Given the description of an element on the screen output the (x, y) to click on. 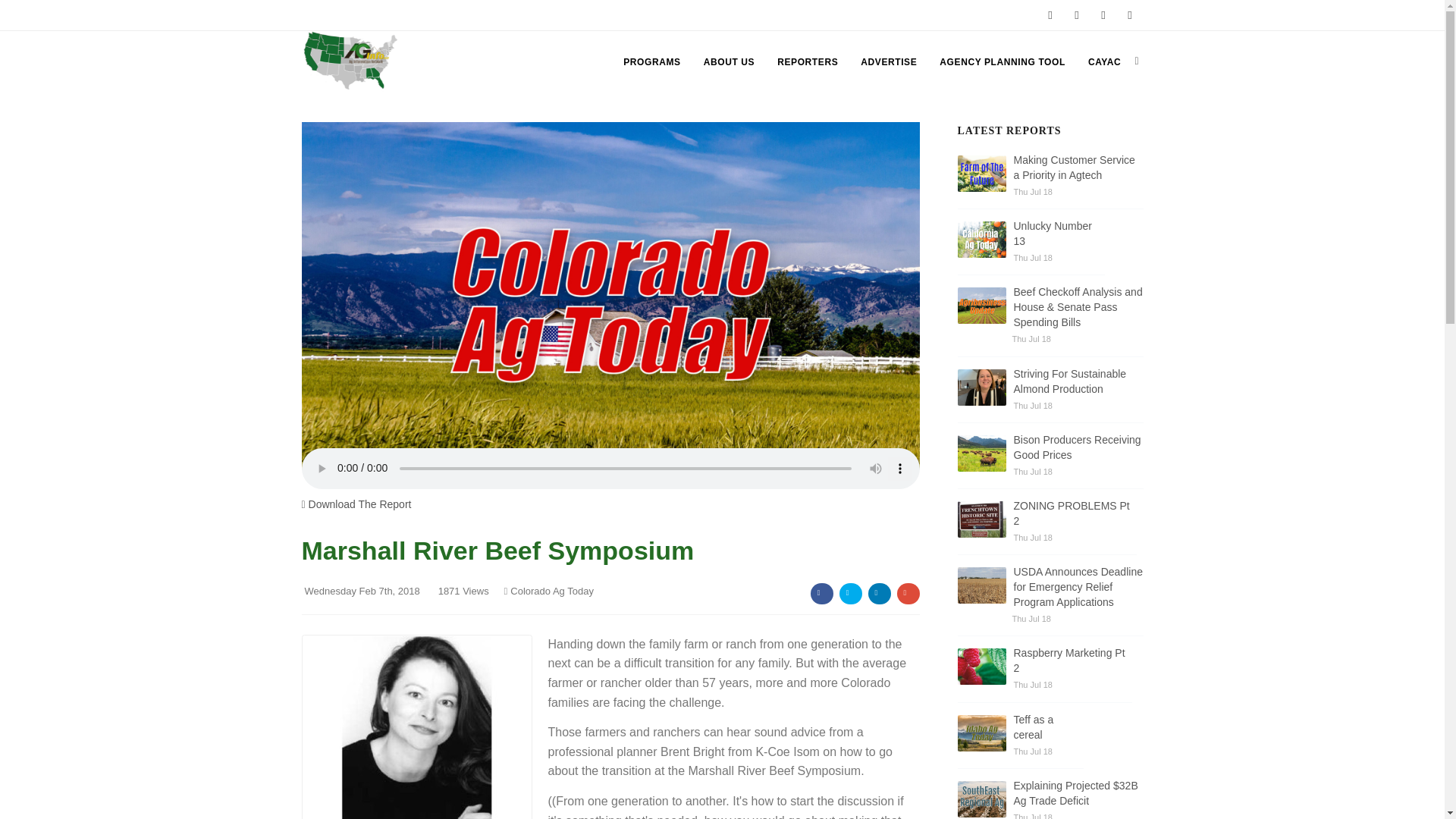
ABOUT US (728, 62)
PROGRAMS (651, 62)
